Given the description of an element on the screen output the (x, y) to click on. 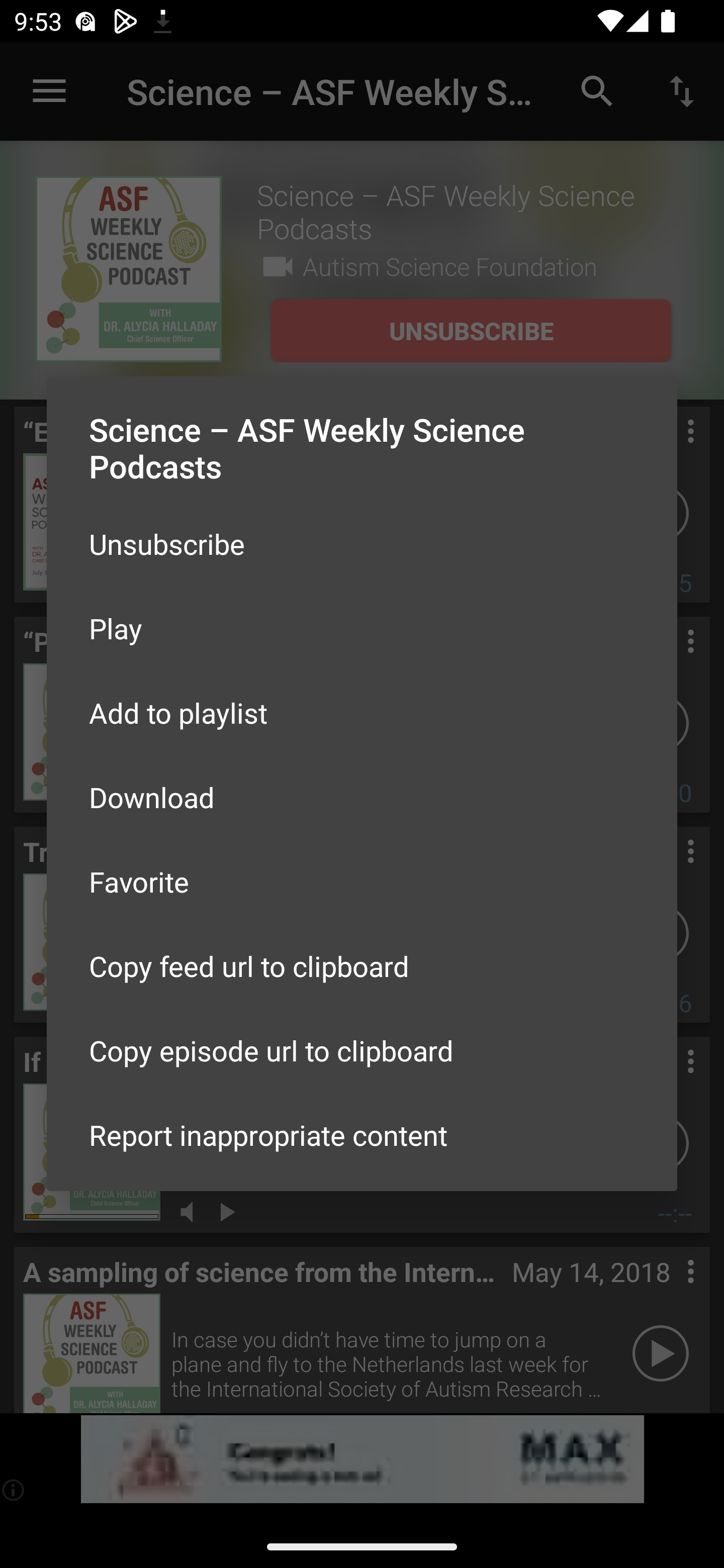
Unsubscribe (361, 543)
Play (361, 628)
Add to playlist (361, 712)
Download (361, 796)
Favorite (361, 880)
Copy feed url to clipboard (361, 965)
Copy episode url to clipboard (361, 1050)
Report inappropriate content (361, 1134)
